Given the description of an element on the screen output the (x, y) to click on. 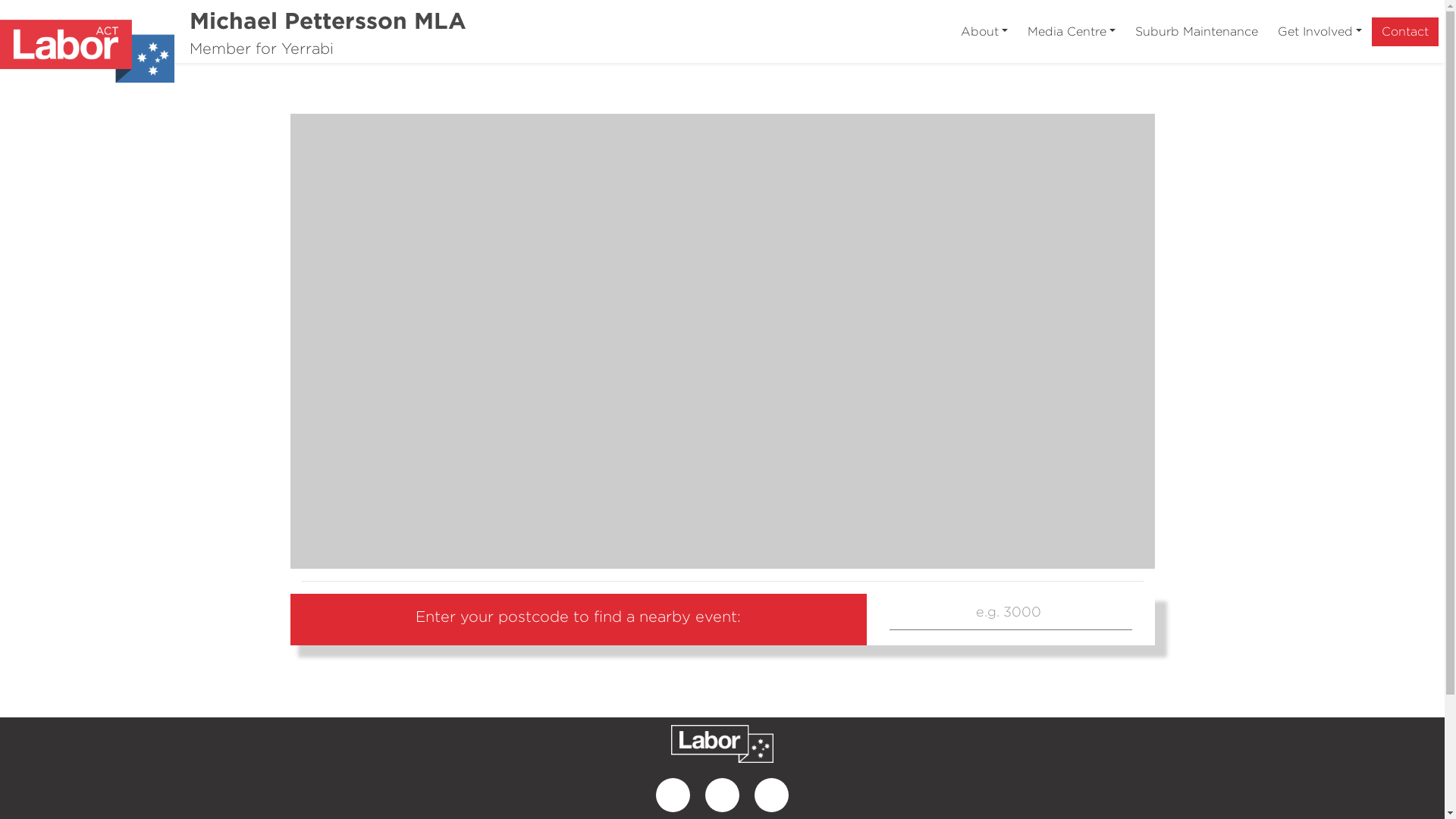
Suburb Maintenance Element type: text (1196, 30)
Get Involved Element type: text (1319, 30)
Contact Element type: text (1404, 30)
Media Centre Element type: text (1071, 30)
About Element type: text (983, 30)
